Given the description of an element on the screen output the (x, y) to click on. 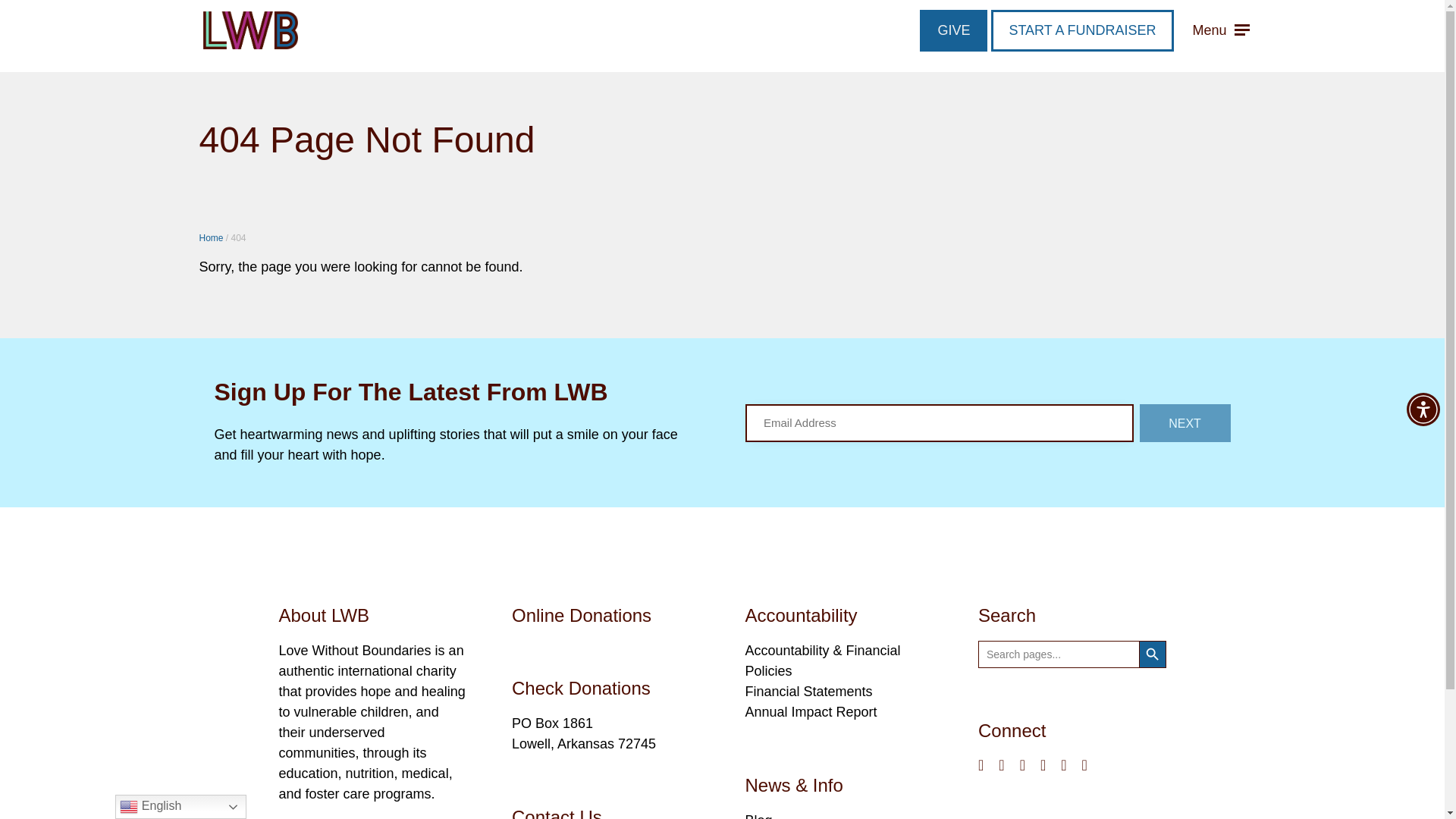
Home (210, 237)
Contact Us (557, 812)
Online Donations (581, 615)
Search Button (1152, 654)
GIVE (953, 30)
START A FUNDRAISER (1081, 30)
Annual Impact Report (810, 711)
Blog (757, 816)
Financial Statements (808, 691)
Accessibility Menu (1422, 409)
NEXT (1184, 422)
